Given the description of an element on the screen output the (x, y) to click on. 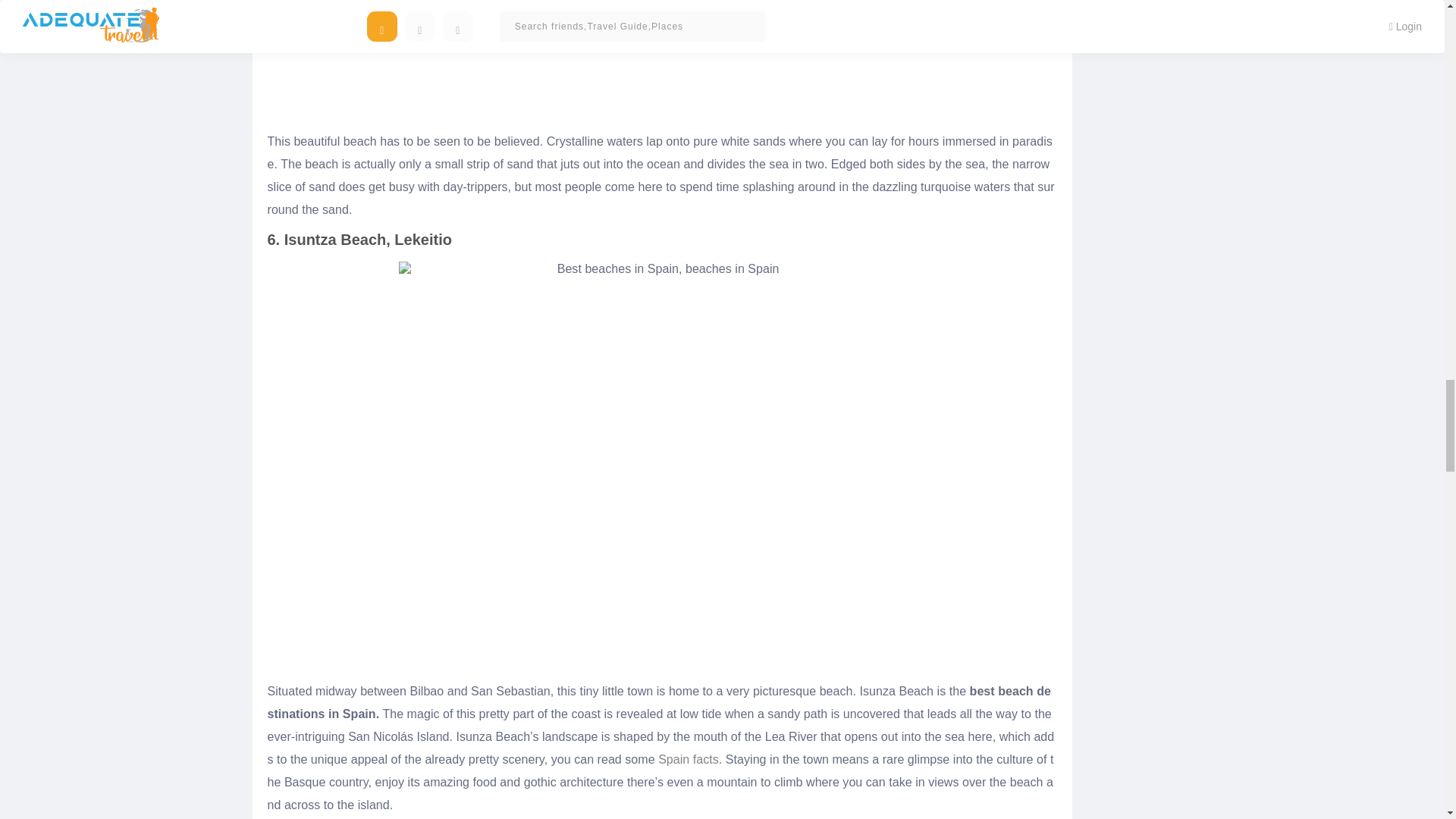
Spain facts (688, 758)
Beaches in Spain (662, 61)
